Given the description of an element on the screen output the (x, y) to click on. 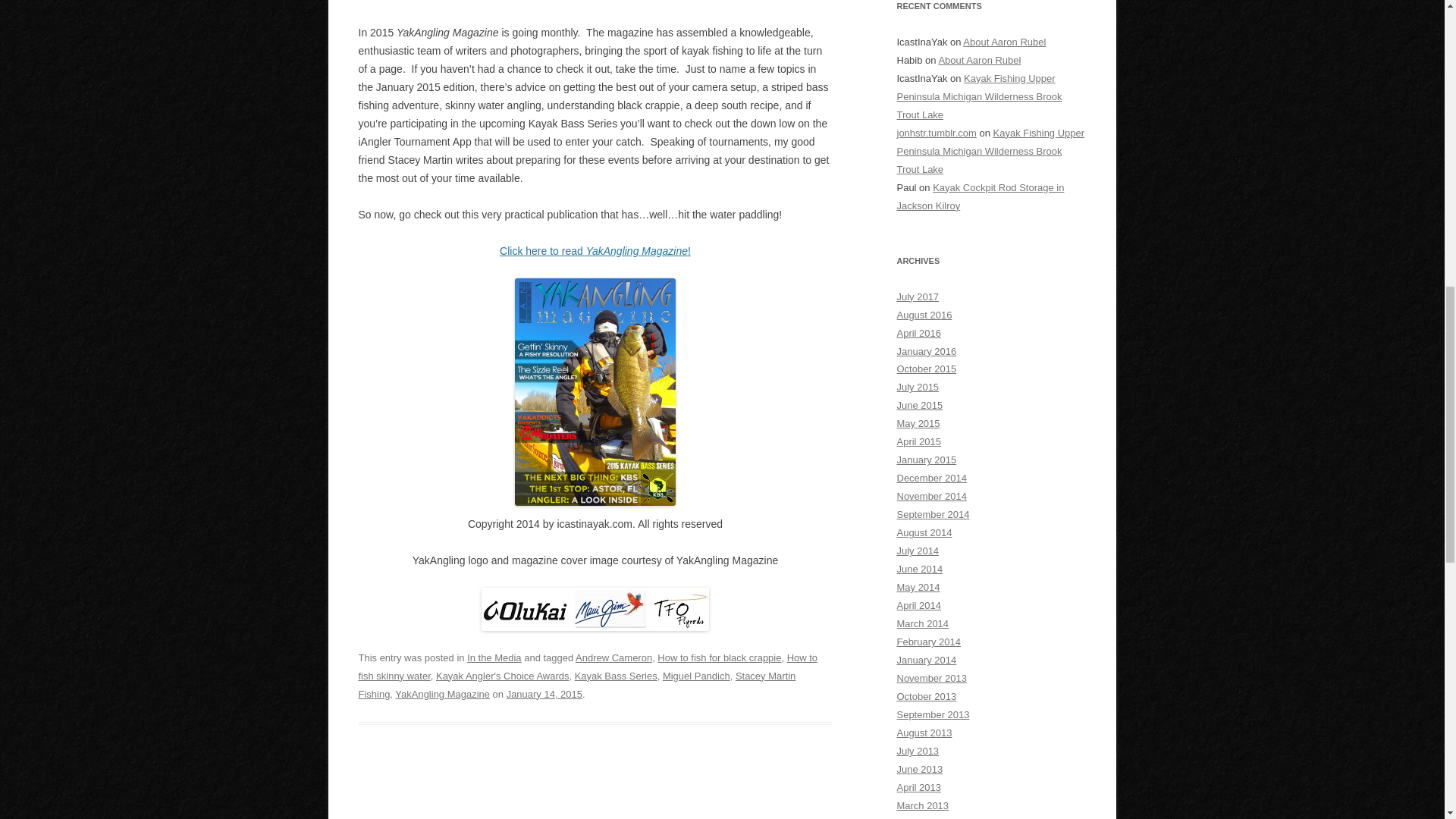
April 2016 (918, 333)
Kayak Cockpit Rod Storage in Jackson Kilroy (980, 196)
How to fish skinny water (587, 666)
August 2016 (924, 315)
jonhstr.tumblr.com (935, 132)
About Aaron Rubel (978, 60)
Kayak Bass Series (616, 675)
Click here to read YakAngling Magazine! (594, 250)
YakAngling Magazine (441, 694)
About Aaron Rubel (1003, 41)
Miguel Pandich (696, 675)
Andrew Cameron (613, 657)
How to fish for black crappie (719, 657)
Kayak Angler's Choice Awards (502, 675)
